Given the description of an element on the screen output the (x, y) to click on. 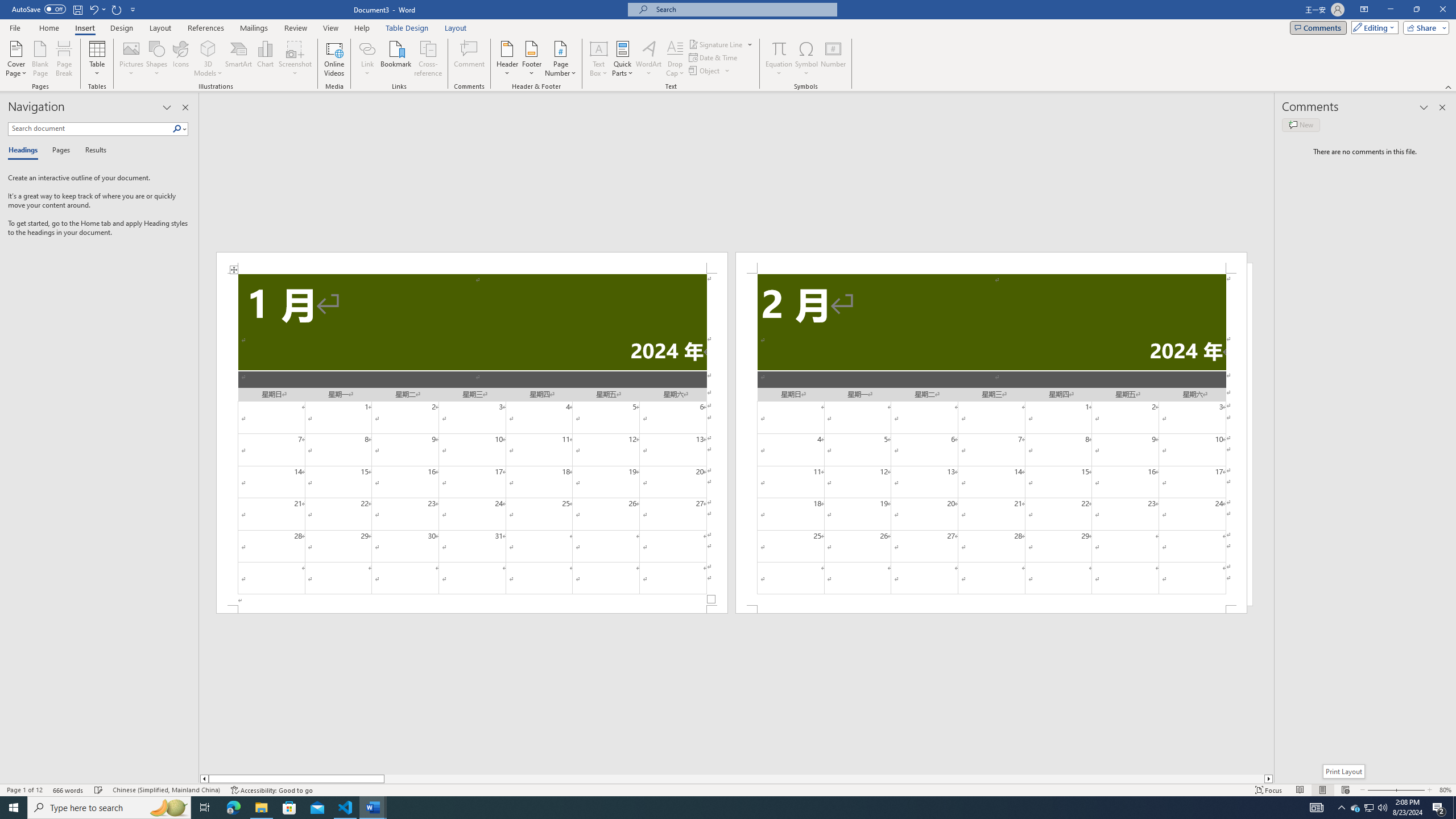
References (205, 28)
Link (367, 58)
Design (122, 28)
Search (179, 128)
Microsoft search (742, 9)
Page Break (63, 58)
Comment (469, 58)
Table Design (407, 28)
Symbol (806, 58)
Comments (1318, 27)
Link (367, 48)
Close pane (185, 107)
Restore Down (1416, 9)
